Given the description of an element on the screen output the (x, y) to click on. 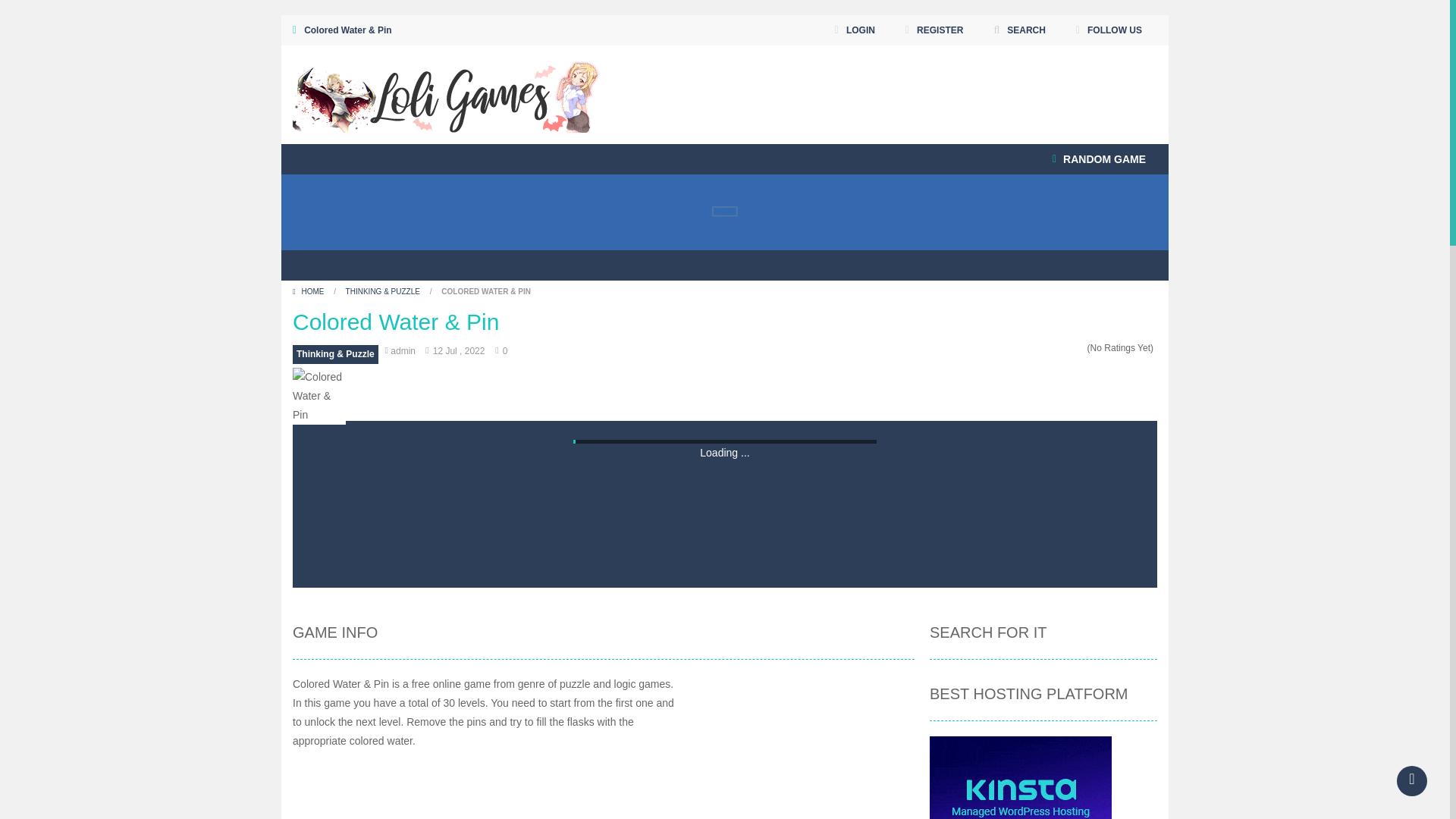
SEARCH (1019, 30)
RANDOM GAME (1099, 159)
FOLLOW US (1108, 30)
REGISTER (933, 30)
Loli Games (446, 93)
Loli Games (446, 94)
Play a random game! (1099, 159)
LOGIN (855, 30)
